Given the description of an element on the screen output the (x, y) to click on. 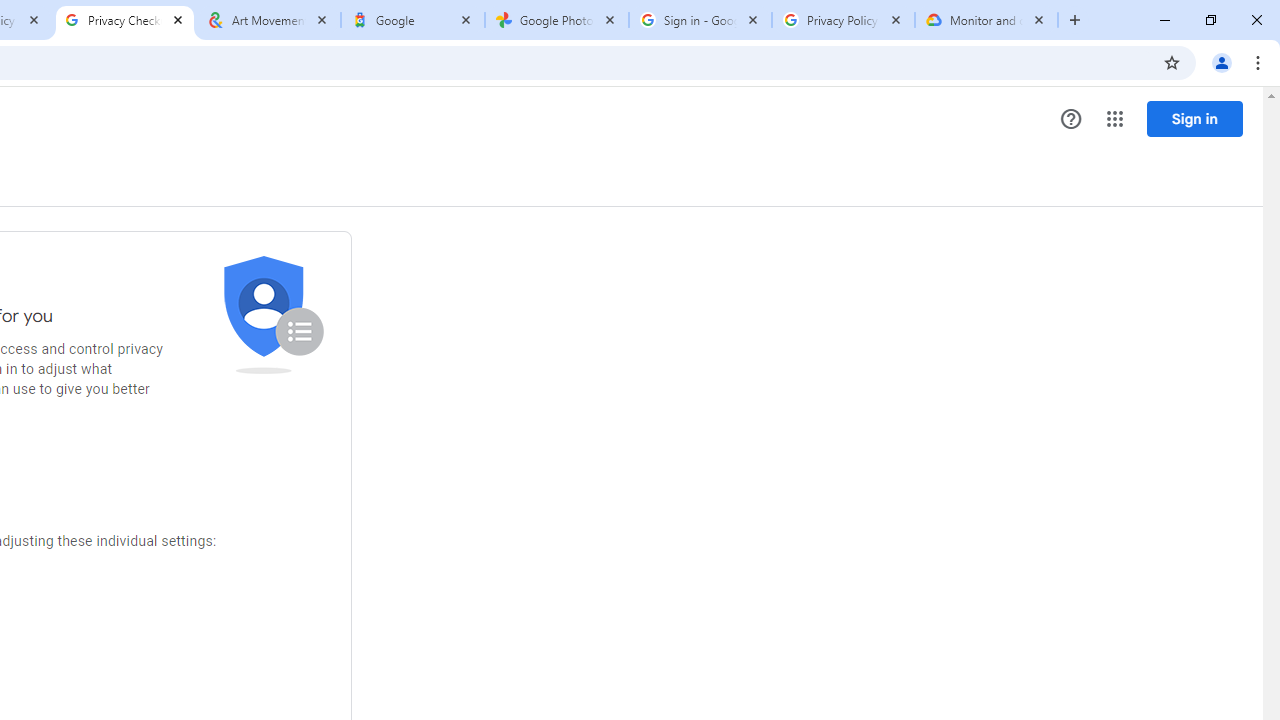
Sign in - Google Accounts (699, 20)
Privacy Checkup (124, 20)
Google (412, 20)
